Given the description of an element on the screen output the (x, y) to click on. 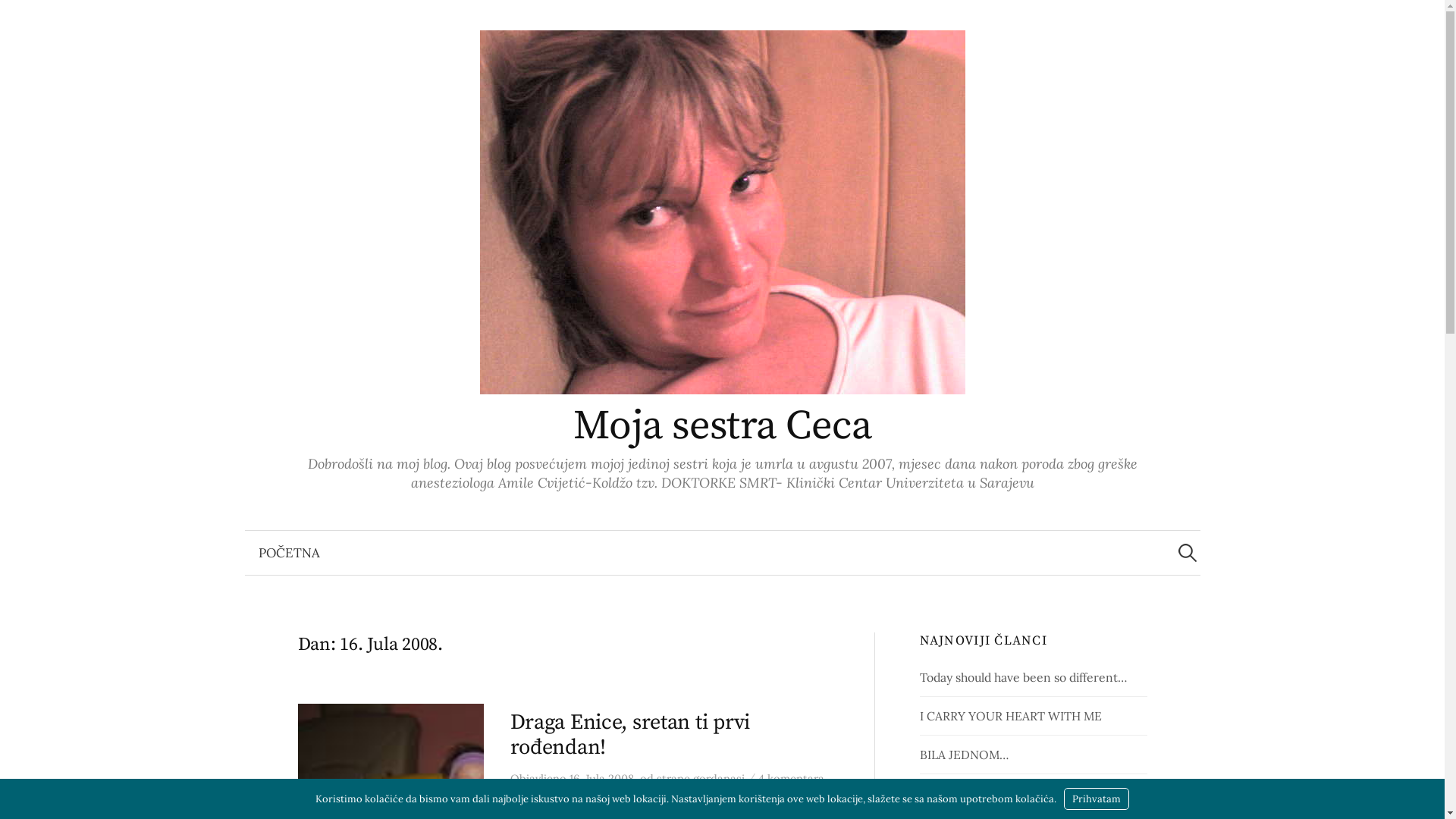
Prihvatam Element type: text (1096, 798)
Moja sestra Ceca Element type: text (722, 425)
Pretraga Element type: text (18, 18)
16. Jula 2008. Element type: text (602, 778)
gordanasi Element type: text (718, 778)
I CARRY YOUR HEART WITH ME Element type: text (1010, 715)
